Given the description of an element on the screen output the (x, y) to click on. 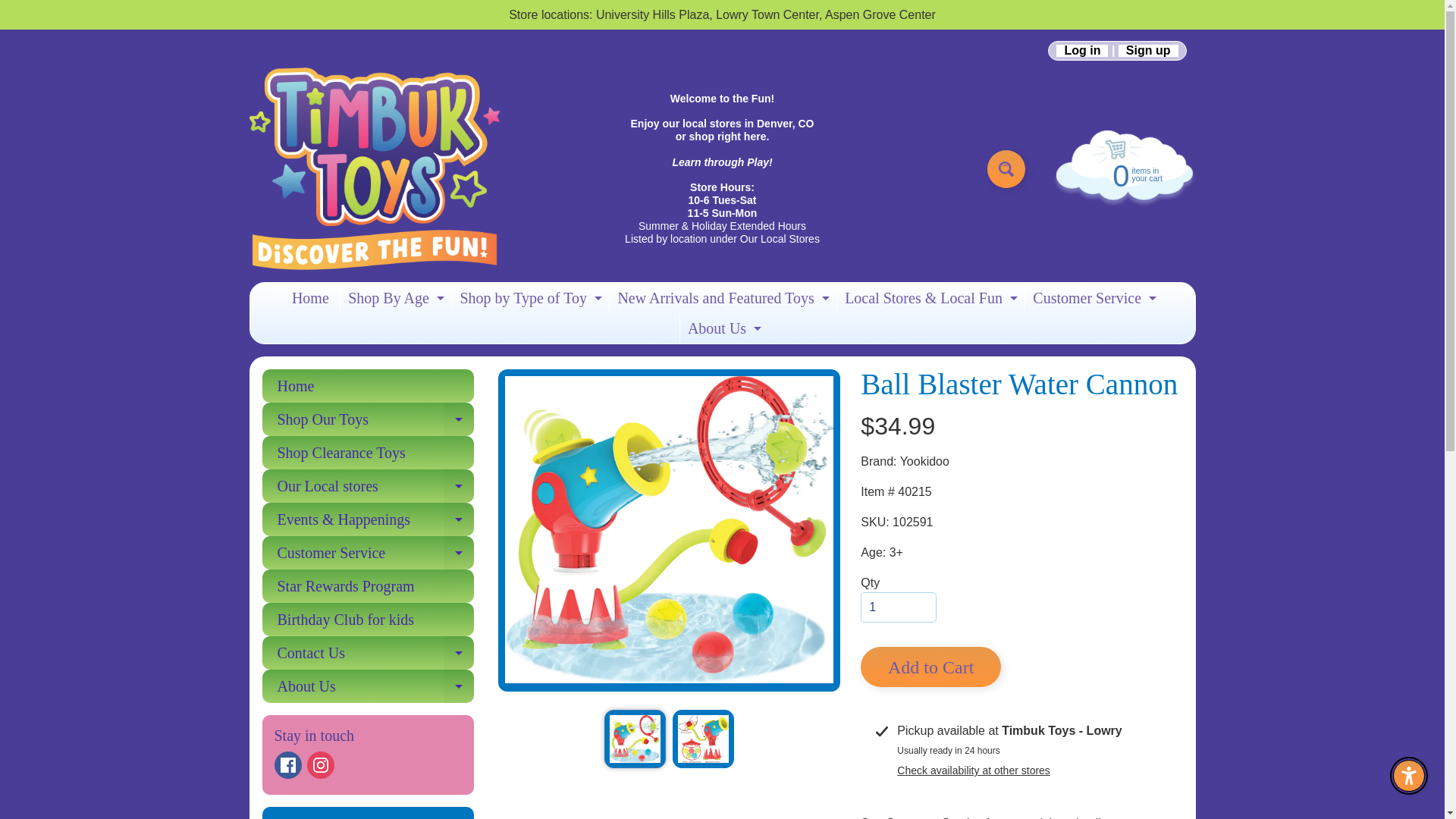
Instagram (320, 764)
TimbukToys (373, 168)
Search (1006, 168)
Log in (1082, 50)
1 (528, 297)
Facebook (898, 607)
Sign up (288, 764)
Home (1092, 297)
Skip to content (394, 297)
Search (1147, 50)
